Given the description of an element on the screen output the (x, y) to click on. 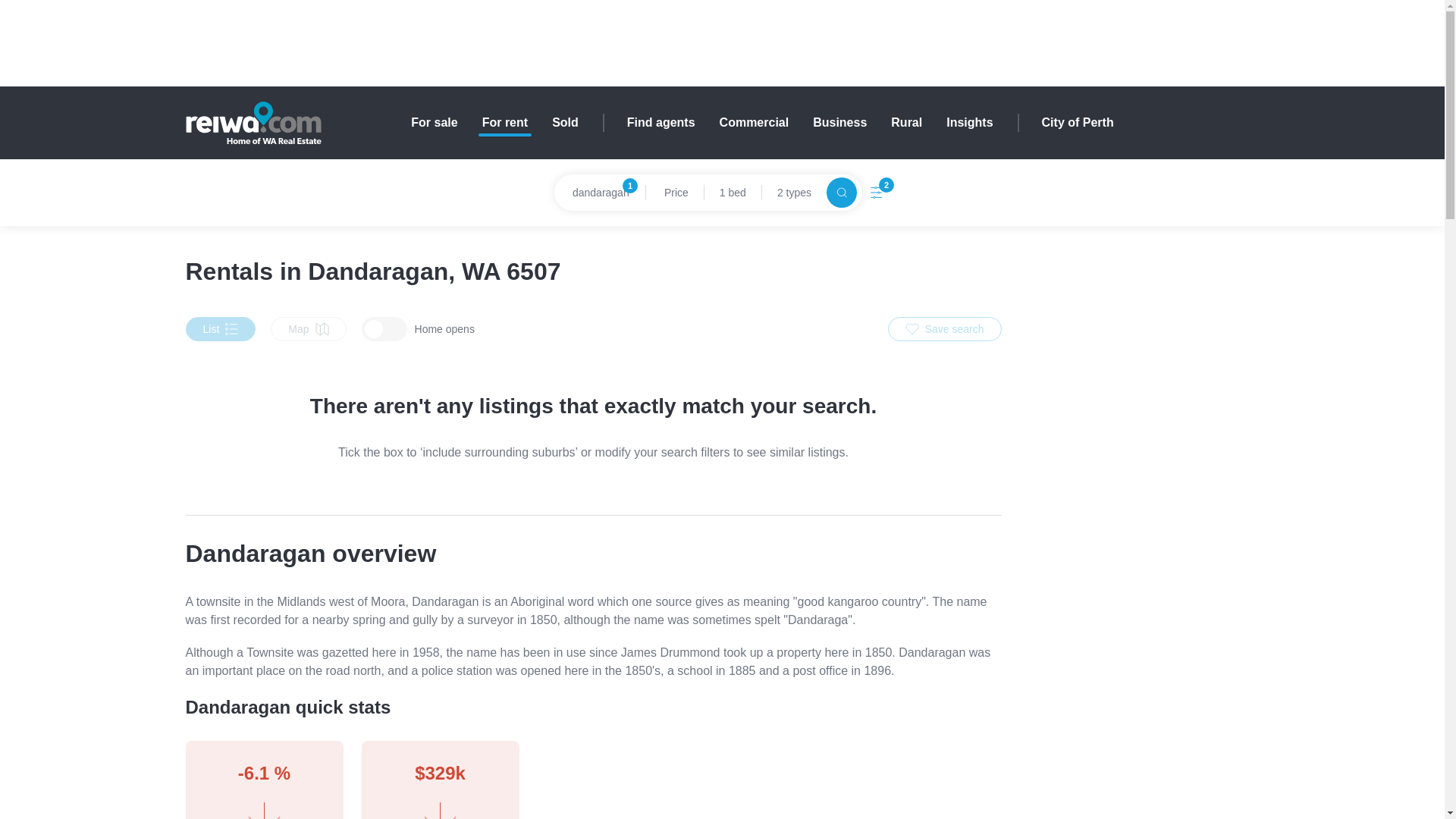
Find agents (661, 122)
Save search (944, 328)
Commercial (754, 122)
Price (674, 192)
1 bed (732, 192)
List (220, 328)
Insights (969, 122)
City of Perth (599, 192)
Sold (1077, 122)
Map (564, 122)
For rent (308, 328)
2 types (504, 122)
Rural (794, 192)
For sale (906, 122)
